Given the description of an element on the screen output the (x, y) to click on. 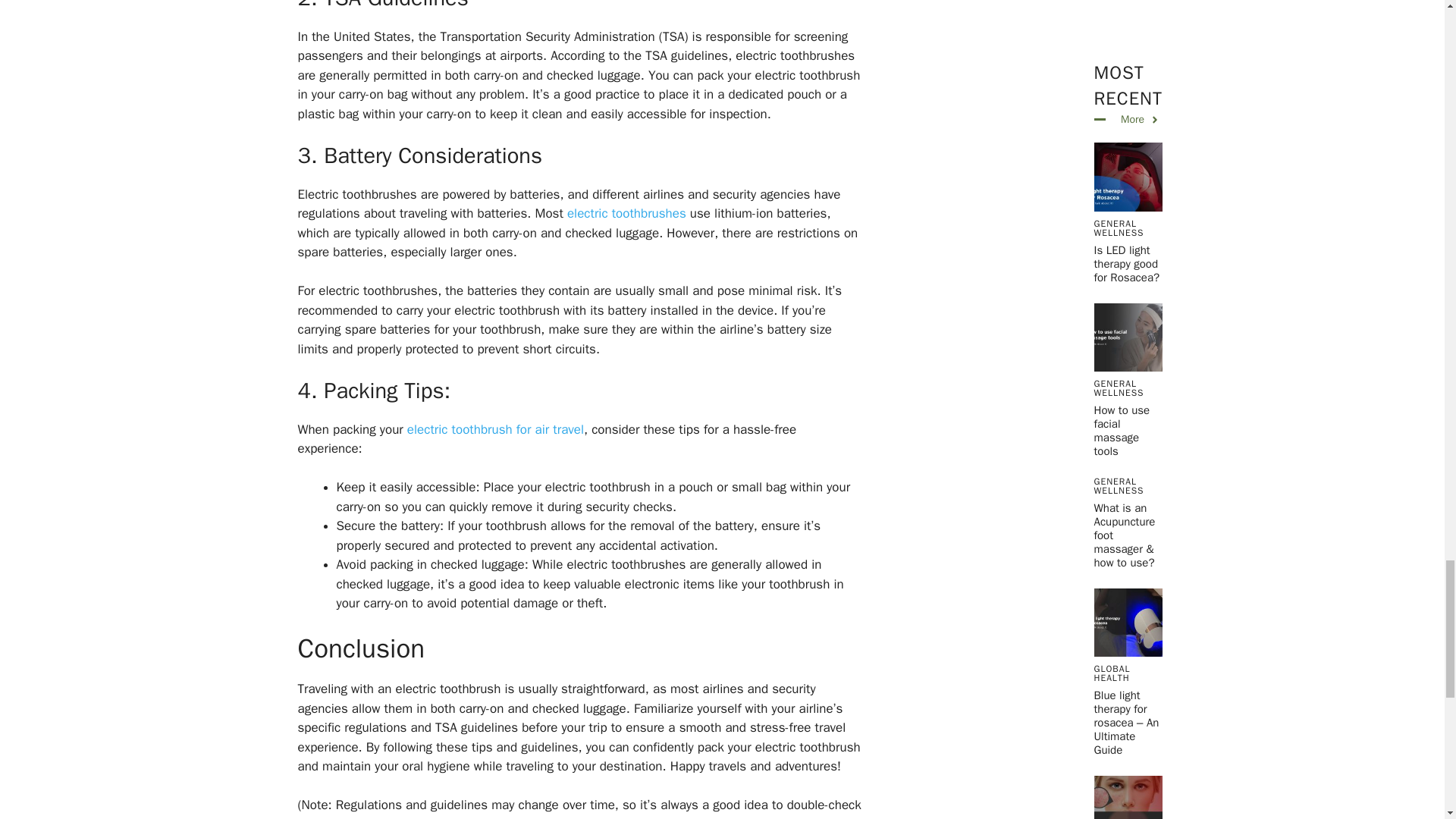
electric toothbrush for air travel (495, 429)
electric toothbrushes (626, 213)
